Given the description of an element on the screen output the (x, y) to click on. 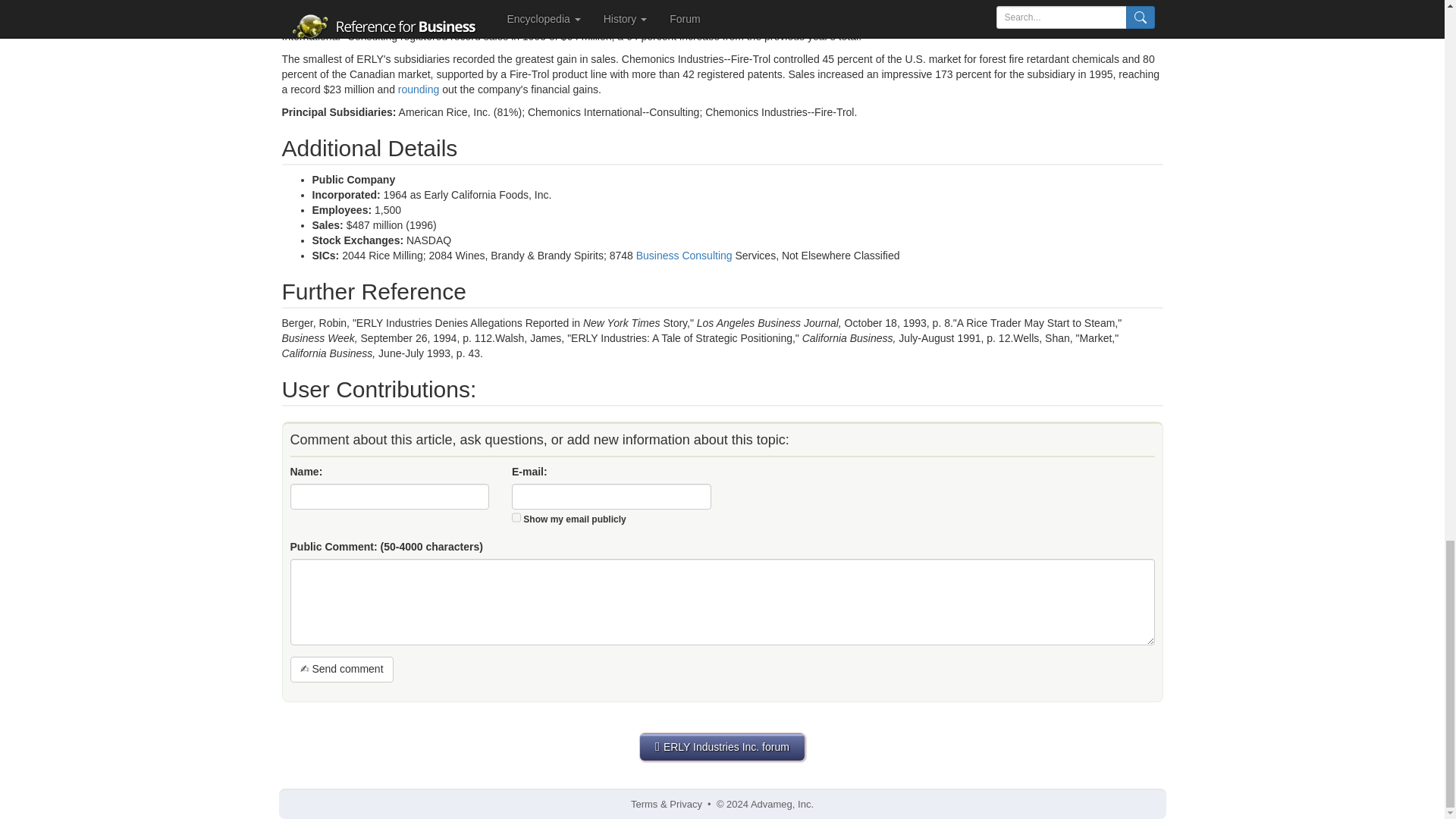
View 'business consulting' definition from Wikipedia (684, 255)
rounding (418, 89)
View 'rounding' definition from Wikipedia (418, 89)
ERLY Industries Inc. forum (722, 746)
Business Consulting (684, 255)
1 (516, 517)
